Given the description of an element on the screen output the (x, y) to click on. 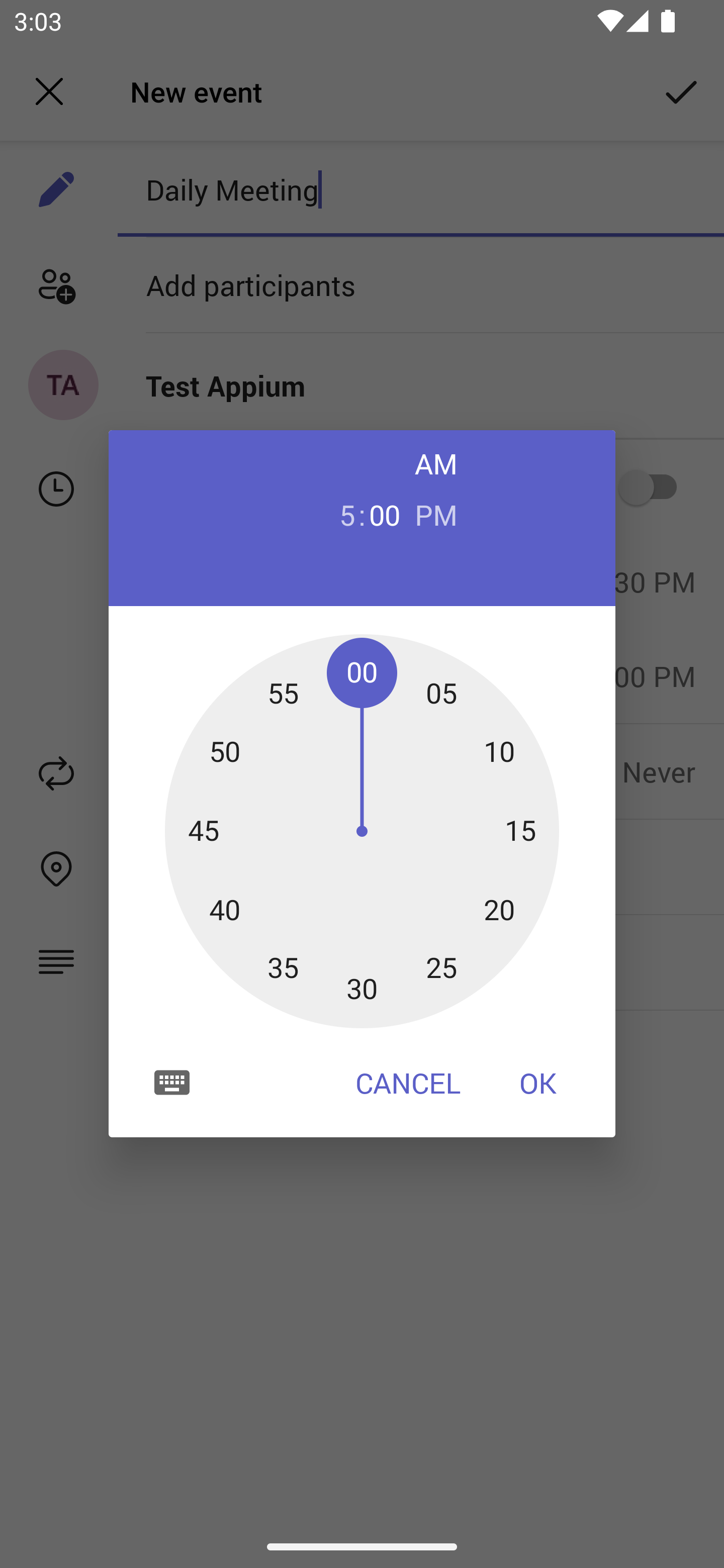
AM (435, 463)
PM (435, 514)
5 (338, 514)
00 (384, 514)
CANCEL (407, 1082)
OK (537, 1082)
Switch to text input mode for the time input. (171, 1081)
